Given the description of an element on the screen output the (x, y) to click on. 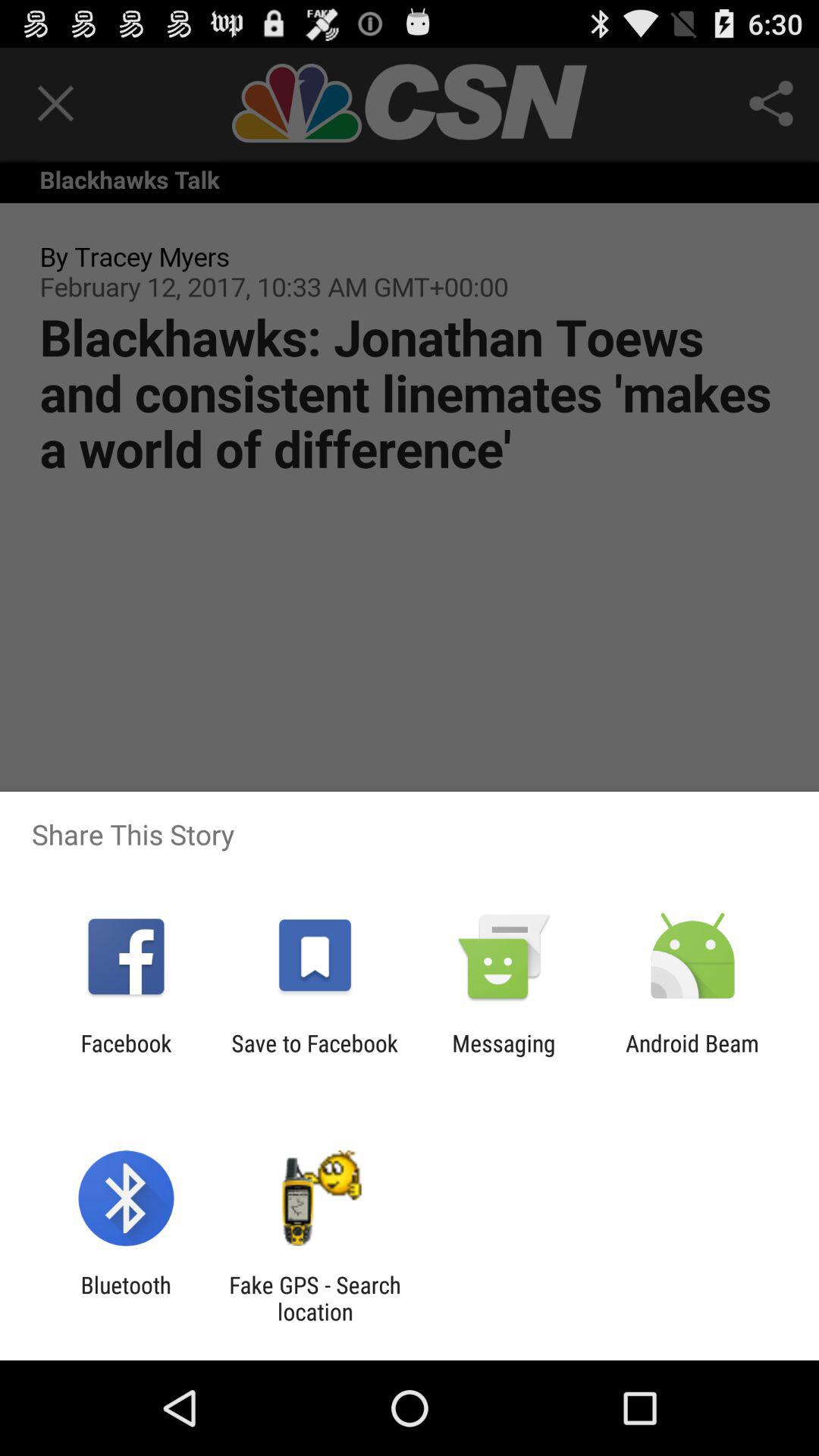
flip until the bluetooth (125, 1298)
